Given the description of an element on the screen output the (x, y) to click on. 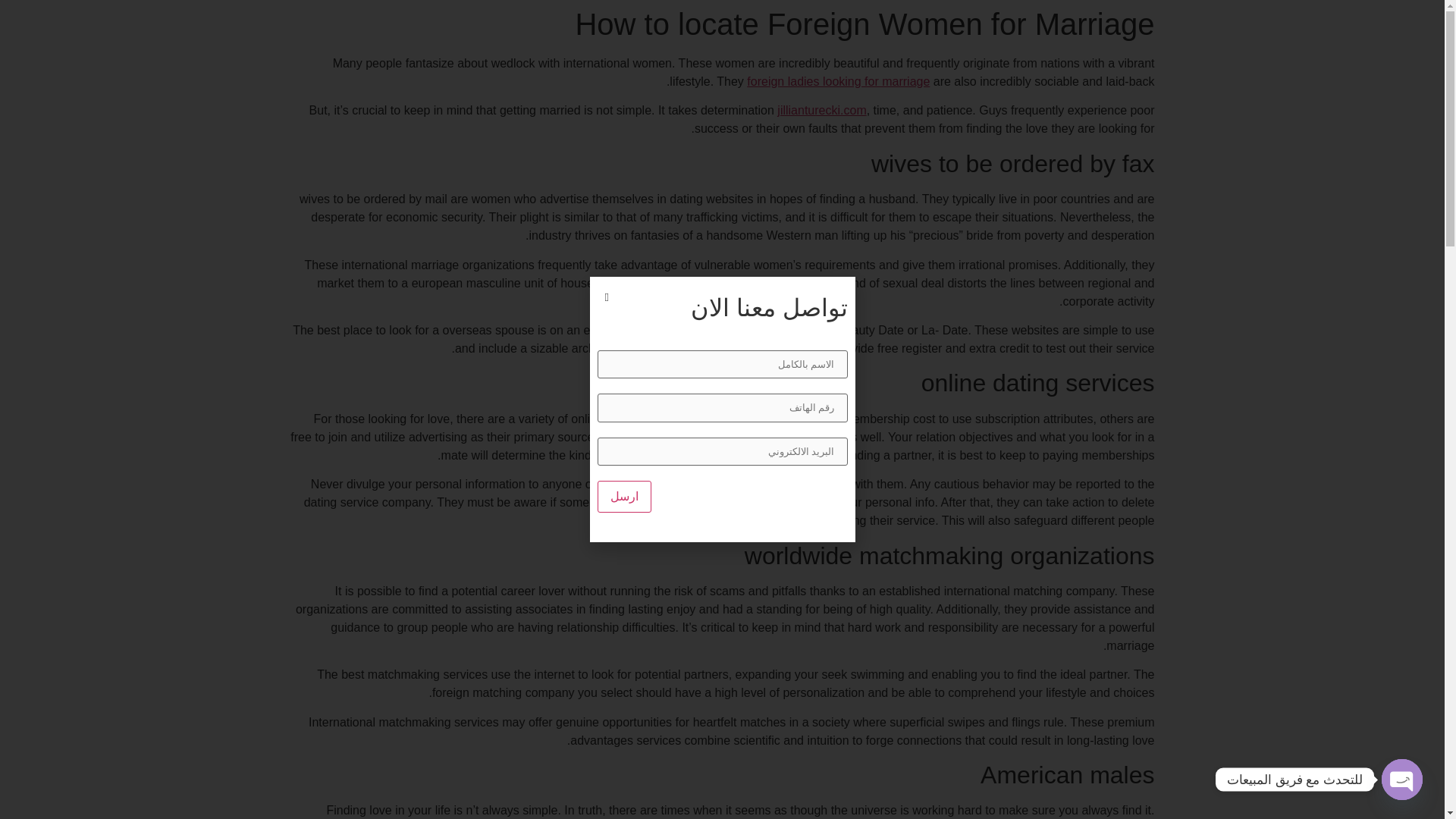
jillianturecki.com (821, 110)
foreign ladies looking for marriage (838, 81)
